Given the description of an element on the screen output the (x, y) to click on. 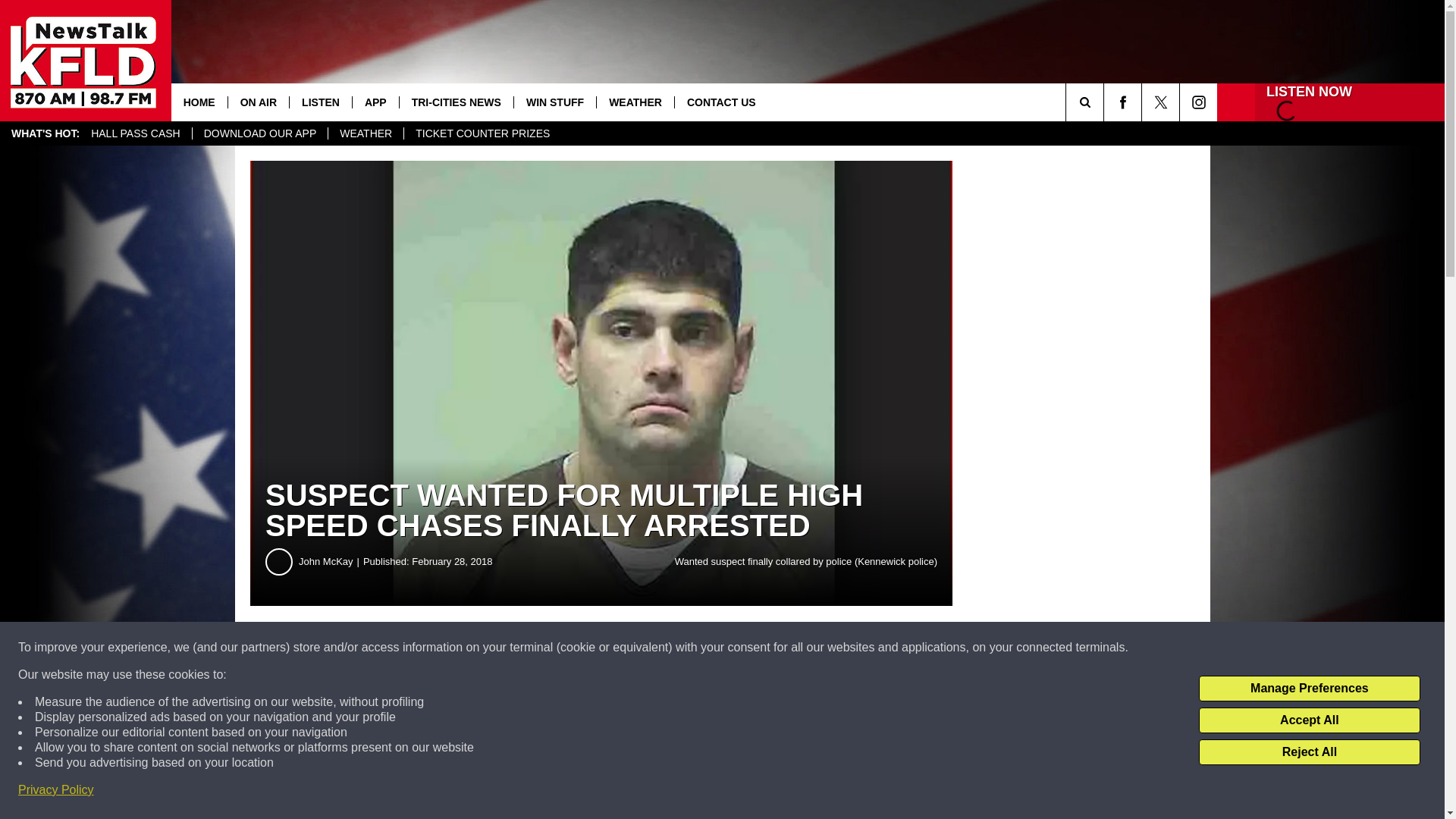
Share on Facebook (460, 647)
LISTEN (320, 102)
DOWNLOAD OUR APP (260, 133)
Accept All (1309, 720)
APP (375, 102)
Manage Preferences (1309, 688)
SEARCH (1106, 102)
SEARCH (1106, 102)
HOME (199, 102)
Privacy Policy (55, 789)
